Given the description of an element on the screen output the (x, y) to click on. 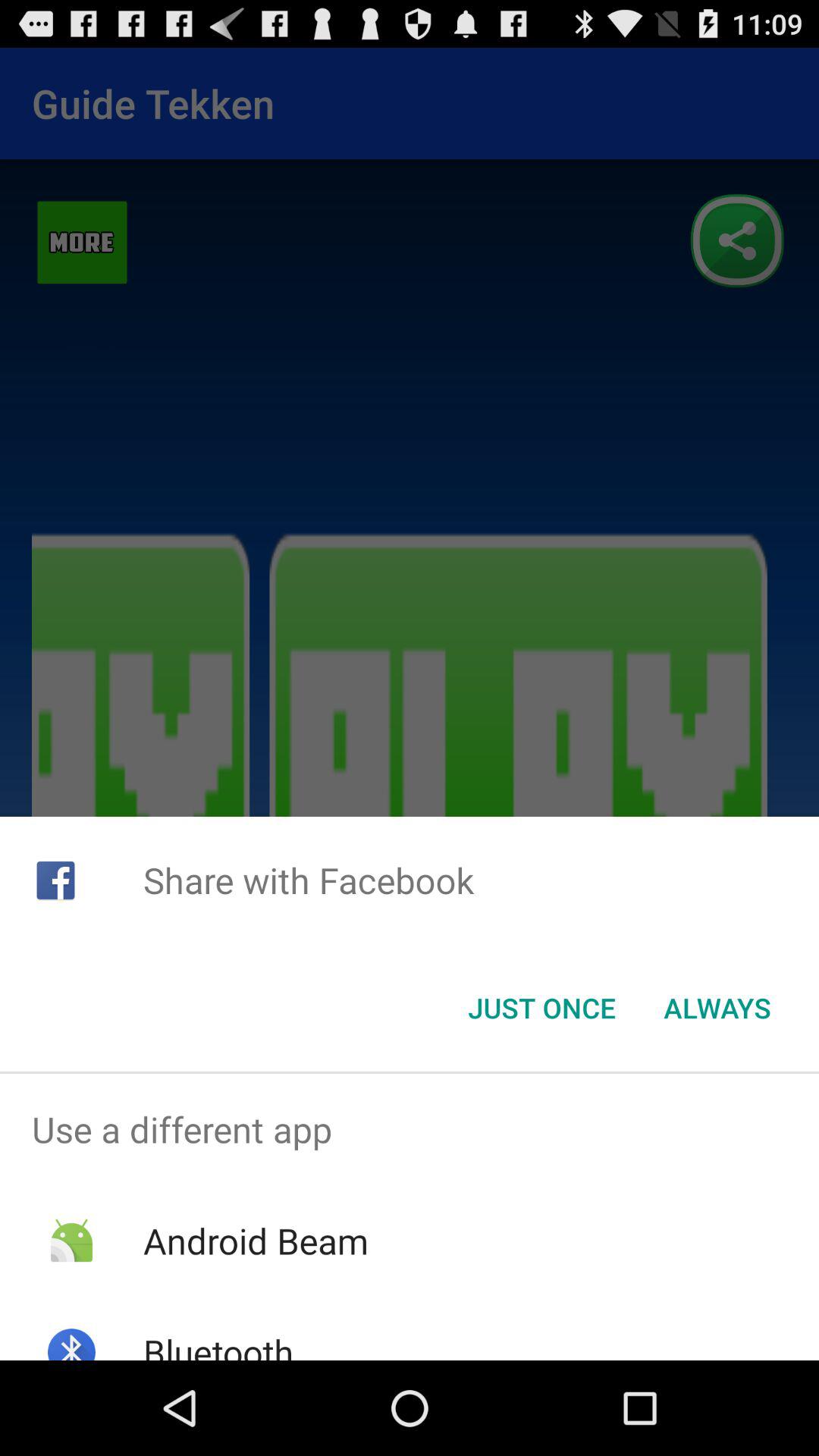
flip to the bluetooth item (218, 1344)
